Given the description of an element on the screen output the (x, y) to click on. 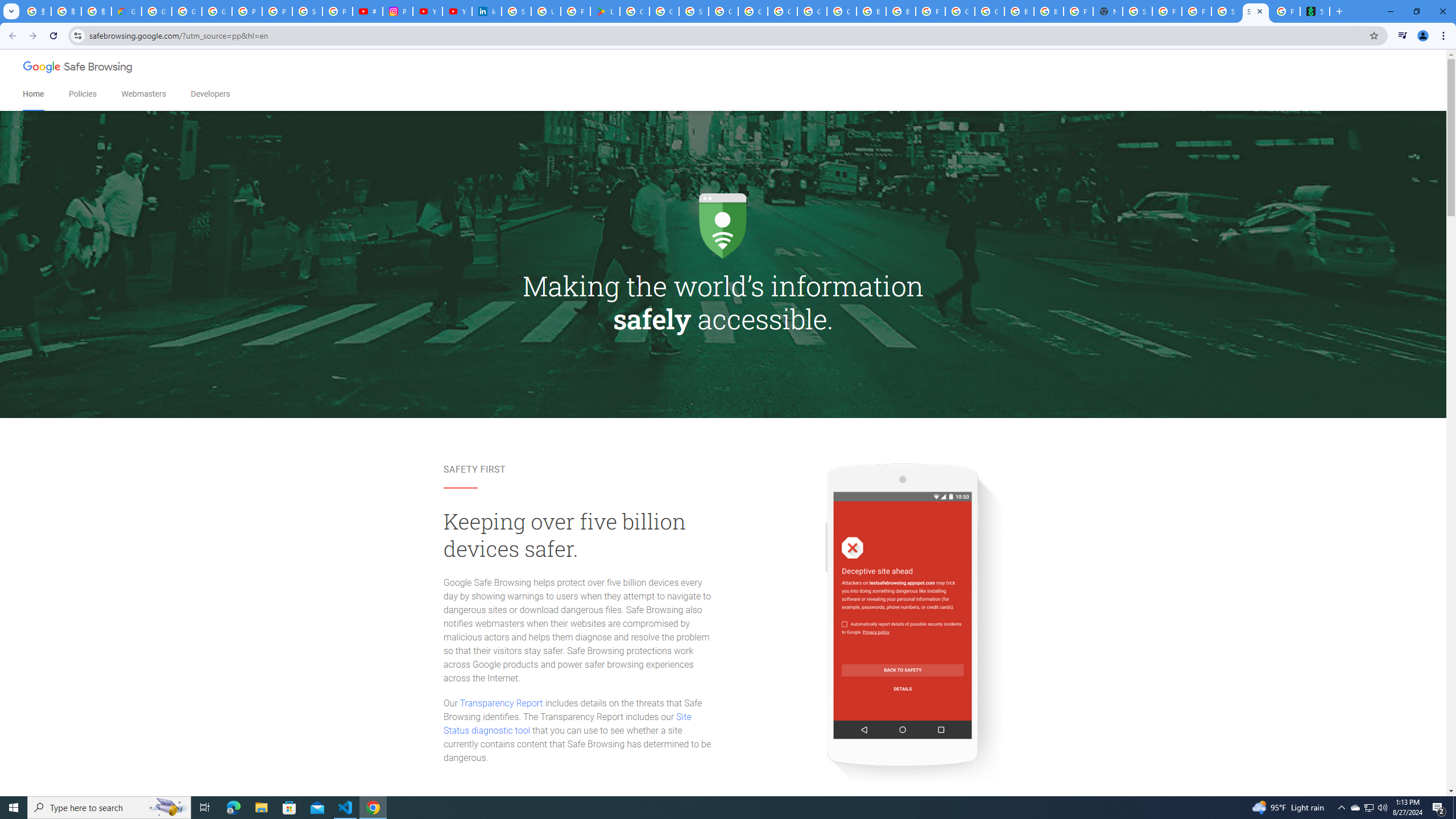
Developers (210, 94)
YouTube Culture & Trends - YouTube Top 10, 2021 (456, 11)
Home (33, 94)
